Given the description of an element on the screen output the (x, y) to click on. 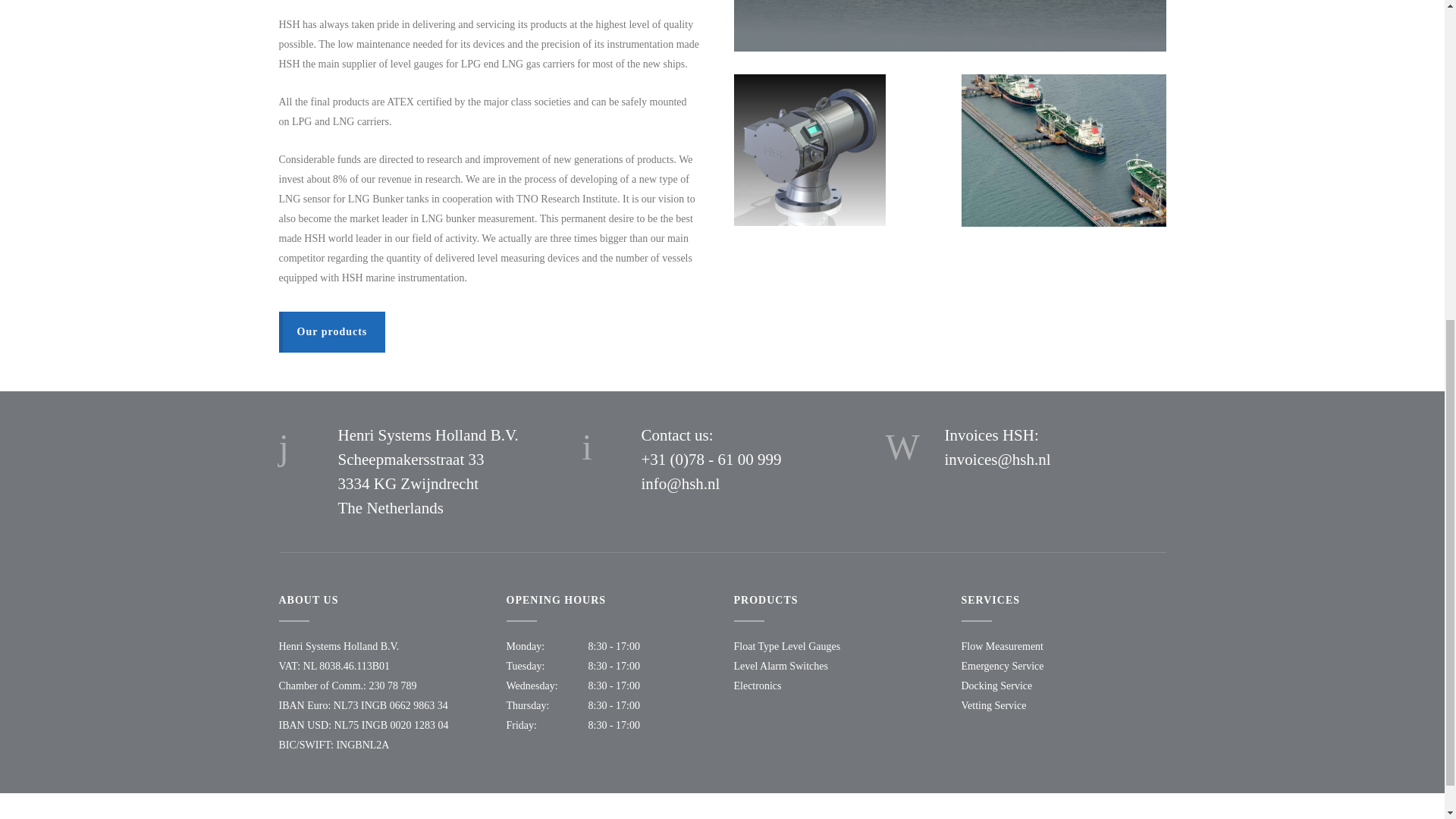
headerl (949, 25)
Our products (332, 332)
